Given the description of an element on the screen output the (x, y) to click on. 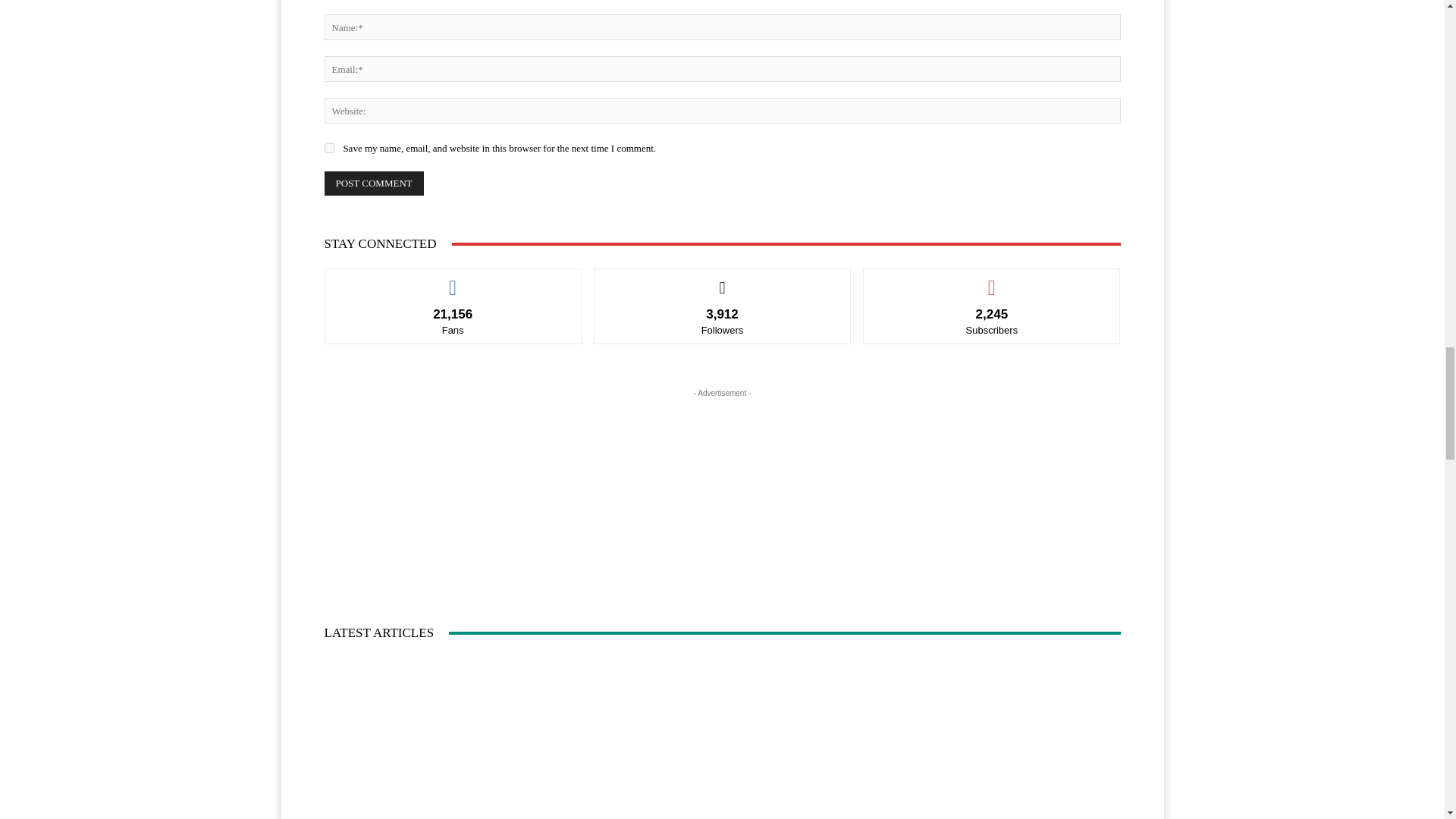
Post Comment (373, 183)
yes (329, 148)
